Given the description of an element on the screen output the (x, y) to click on. 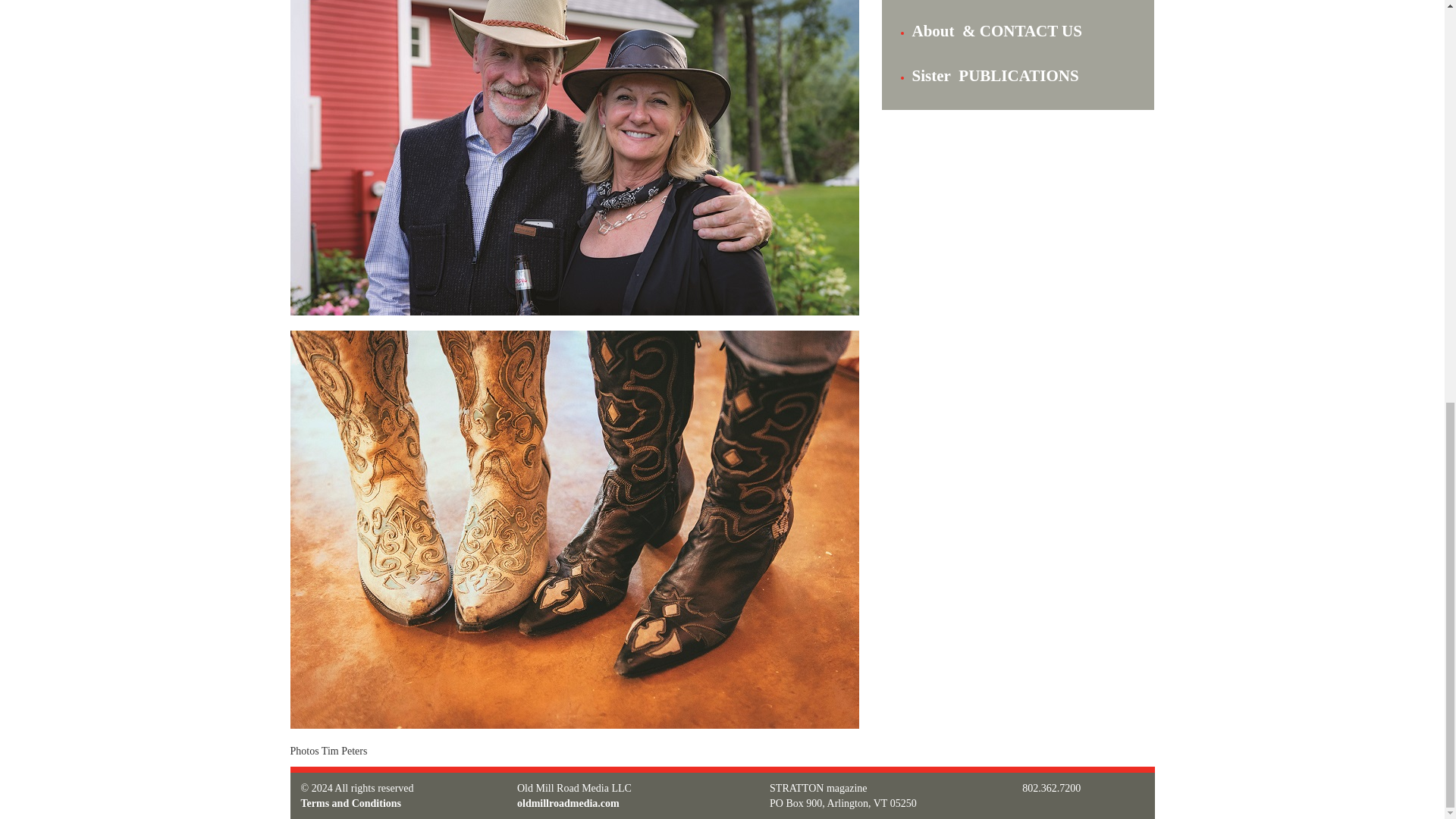
oldmillroadmedia.com (568, 803)
Terms and Conditions (350, 803)
Sister PUBLICATIONS (994, 75)
